Given the description of an element on the screen output the (x, y) to click on. 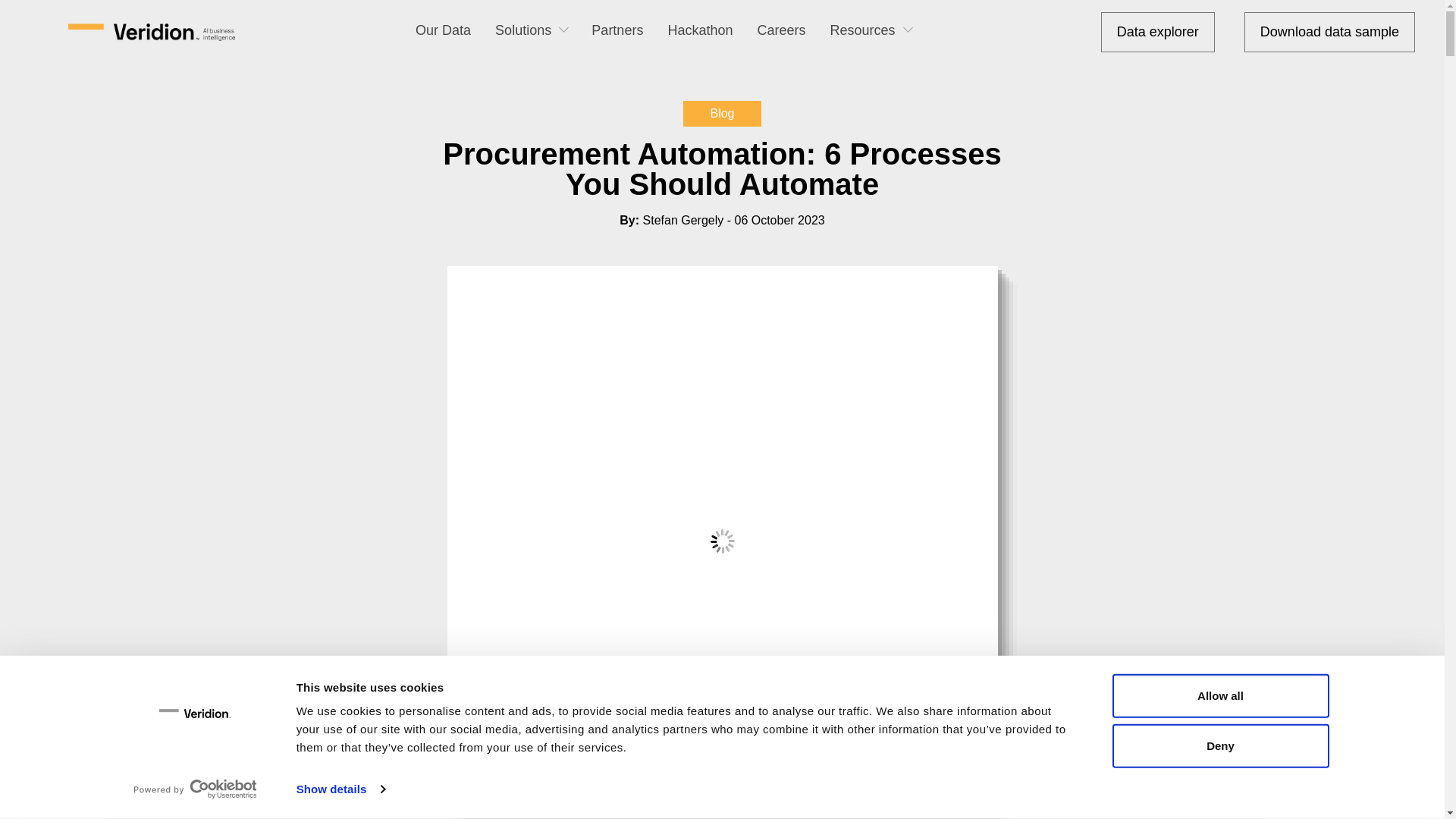
Show details (340, 789)
